Given the description of an element on the screen output the (x, y) to click on. 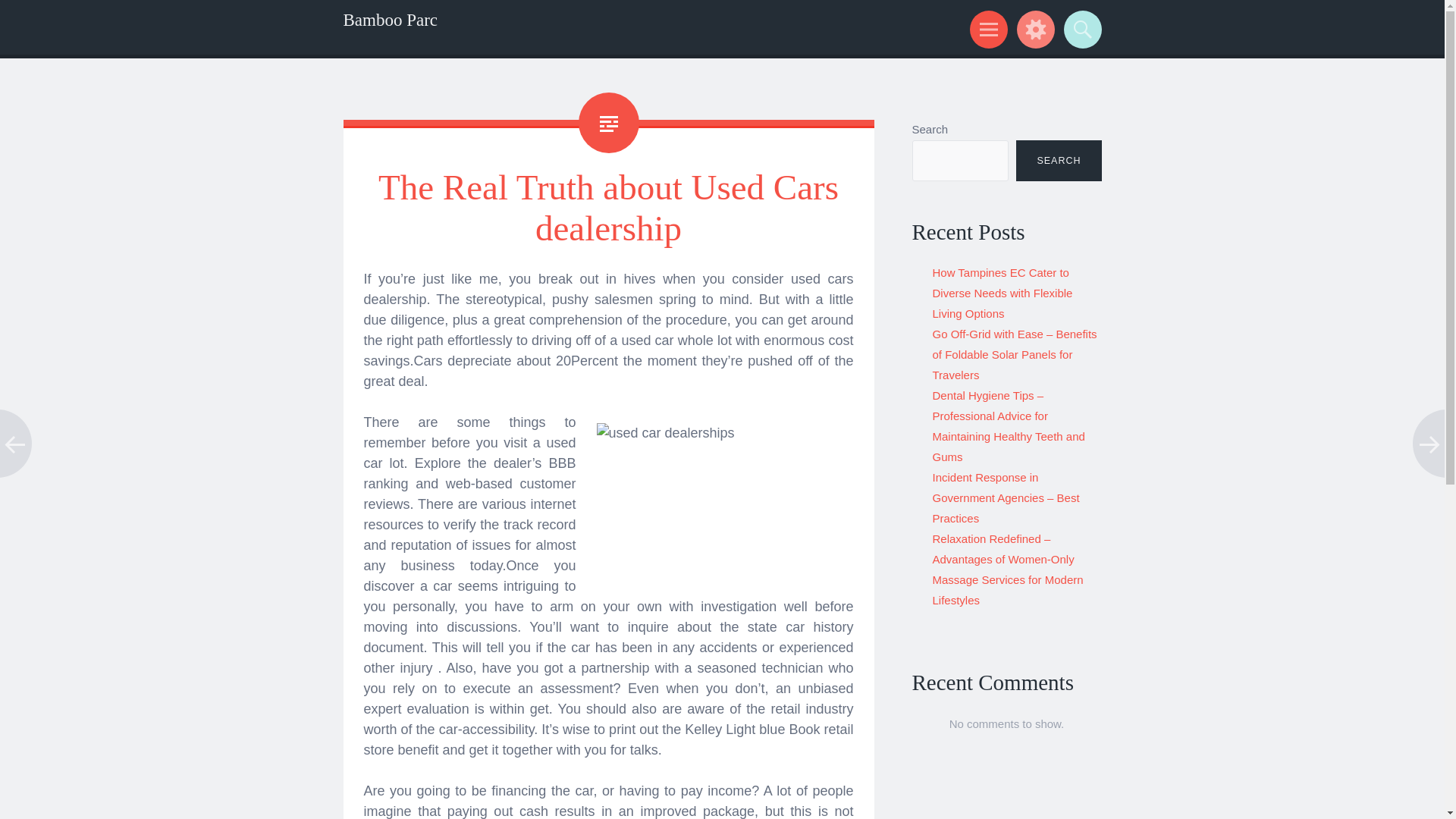
Bamboo Parc (390, 19)
Widgets (1032, 29)
Search (1080, 29)
Menu (985, 29)
